Given the description of an element on the screen output the (x, y) to click on. 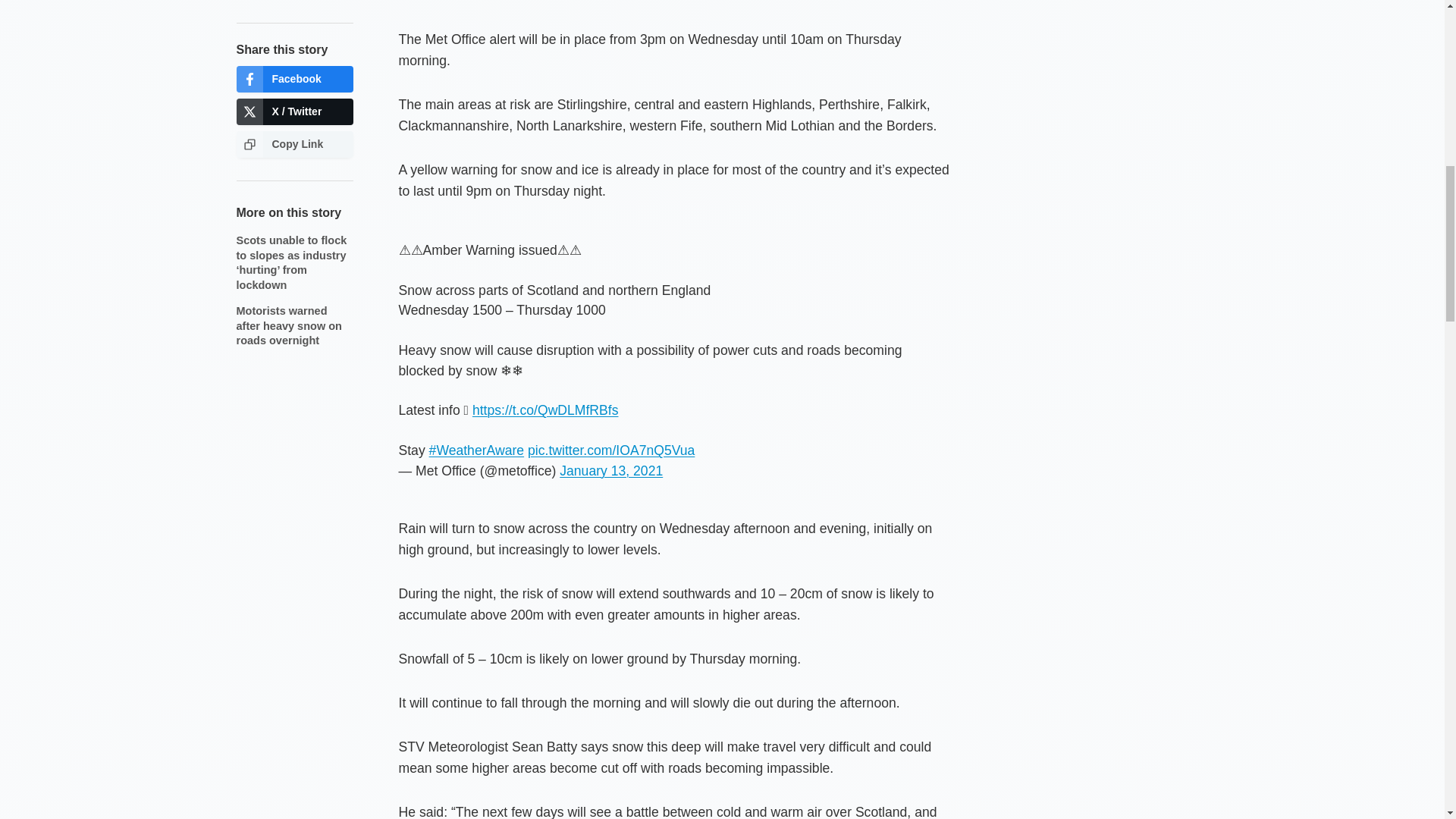
Facebook (294, 79)
